Given the description of an element on the screen output the (x, y) to click on. 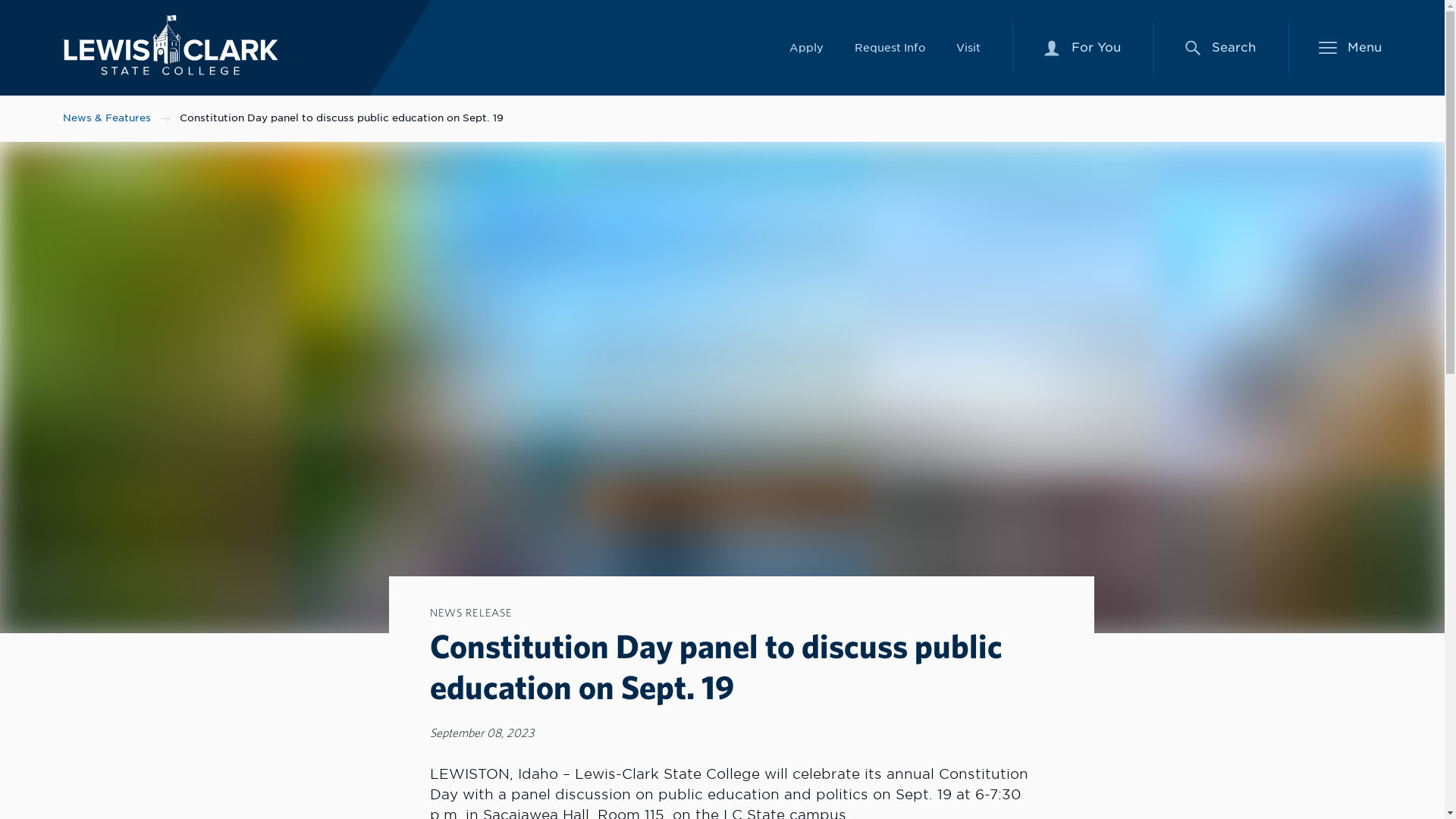
Request Info (888, 46)
Apply (806, 46)
user--solid (1051, 48)
search-find--solid (1082, 47)
Lewis-Clark State College (1191, 47)
Visit (170, 45)
